Given the description of an element on the screen output the (x, y) to click on. 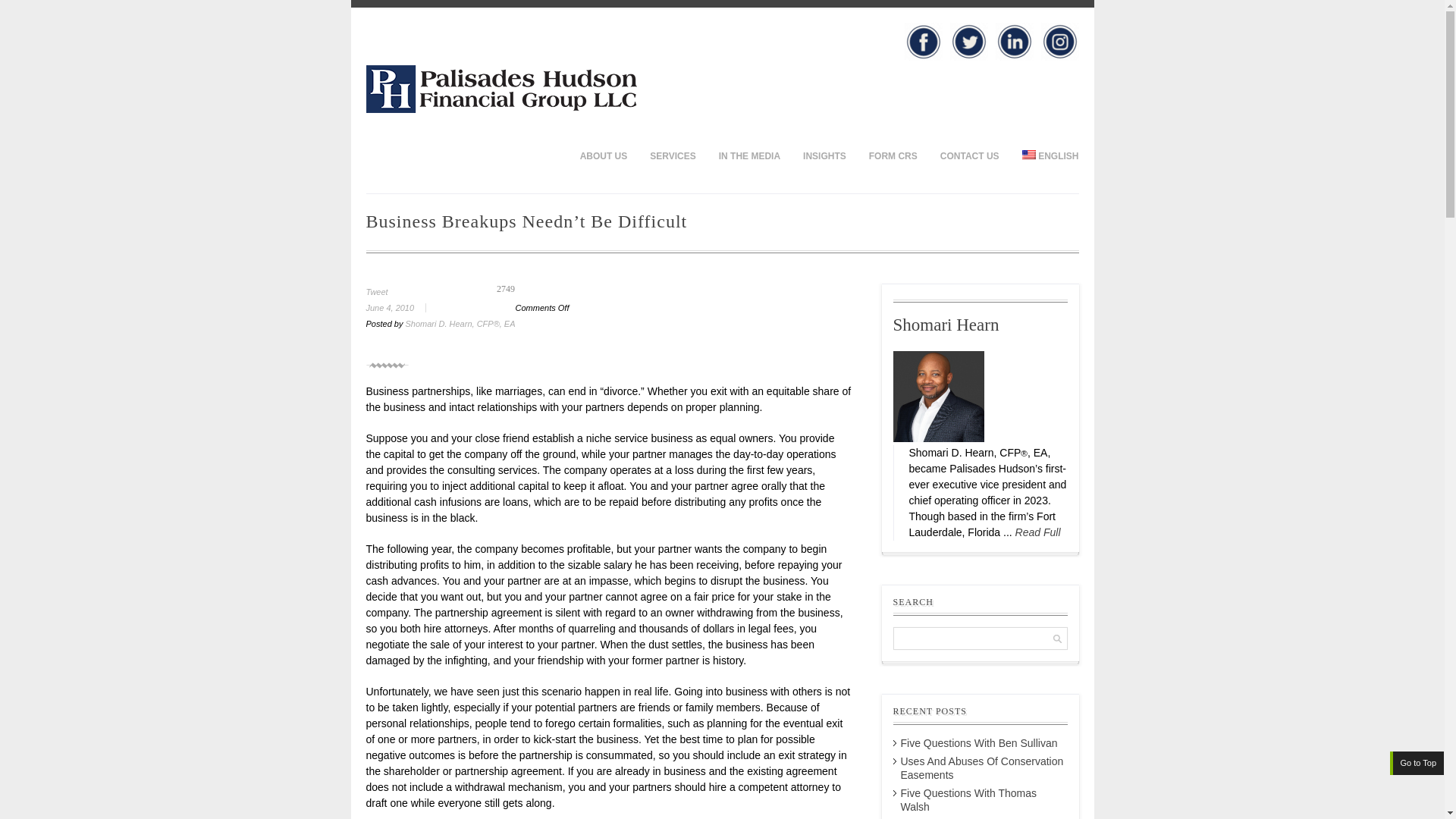
CONTACT US (969, 155)
Instagram (1059, 41)
Tweet (376, 291)
June 4, 2010 (401, 307)
Uses And Abuses Of Conservation Easements (982, 768)
Facebook (923, 41)
Palisades Hudson Financial Group (500, 109)
ABOUT US (604, 155)
LinkedIn (1013, 41)
English (1044, 155)
INSIGHTS (824, 155)
Search (24, 9)
Five Questions With Ben Sullivan (979, 743)
IN THE MEDIA (749, 155)
English (1028, 153)
